Given the description of an element on the screen output the (x, y) to click on. 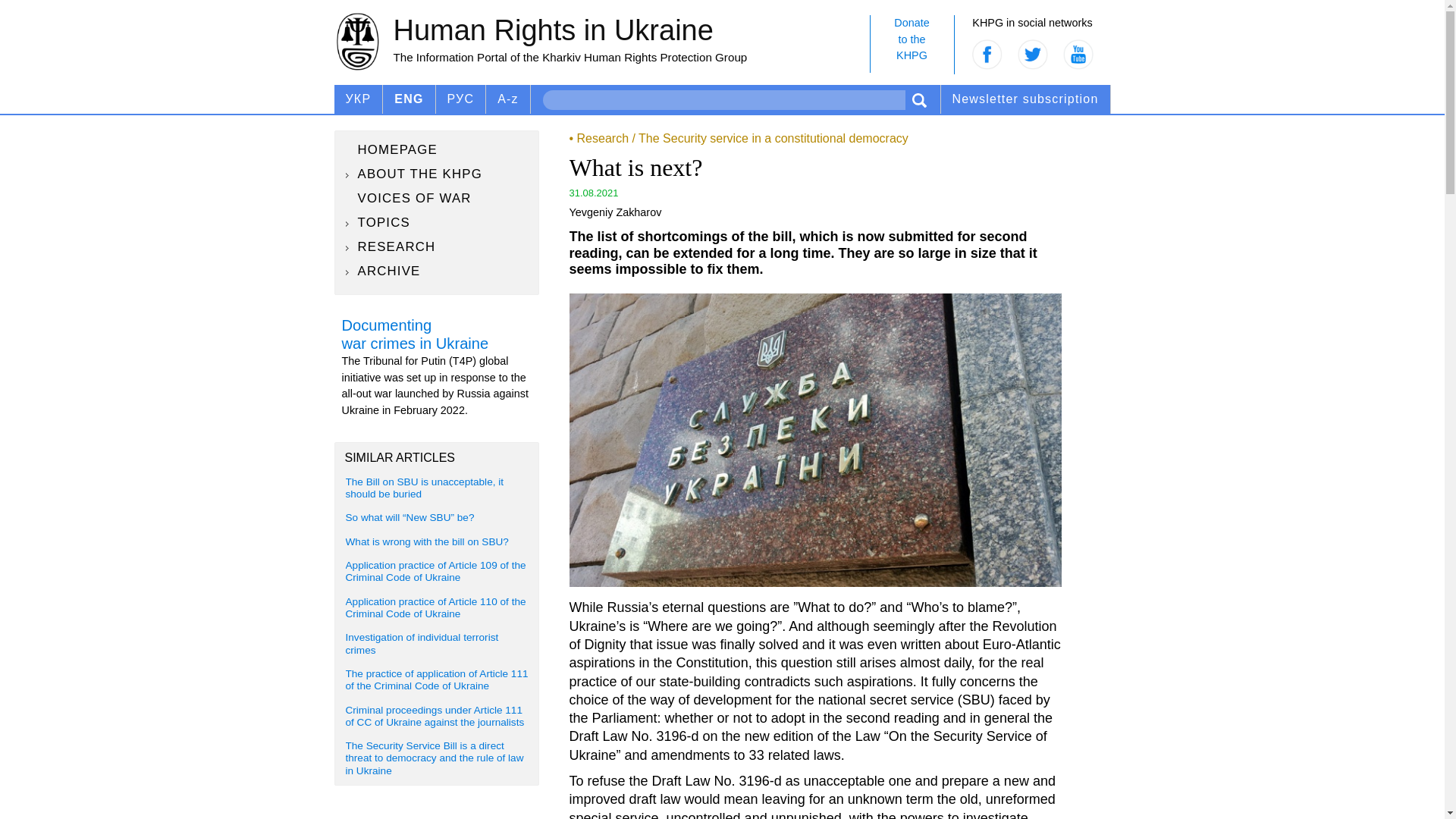
Newsletter subscription (1024, 99)
TOPICS (437, 222)
HOMEPAGE (437, 149)
A-z (507, 99)
ABOUT THE KHPG (437, 174)
VOICES OF WAR (437, 198)
